Given the description of an element on the screen output the (x, y) to click on. 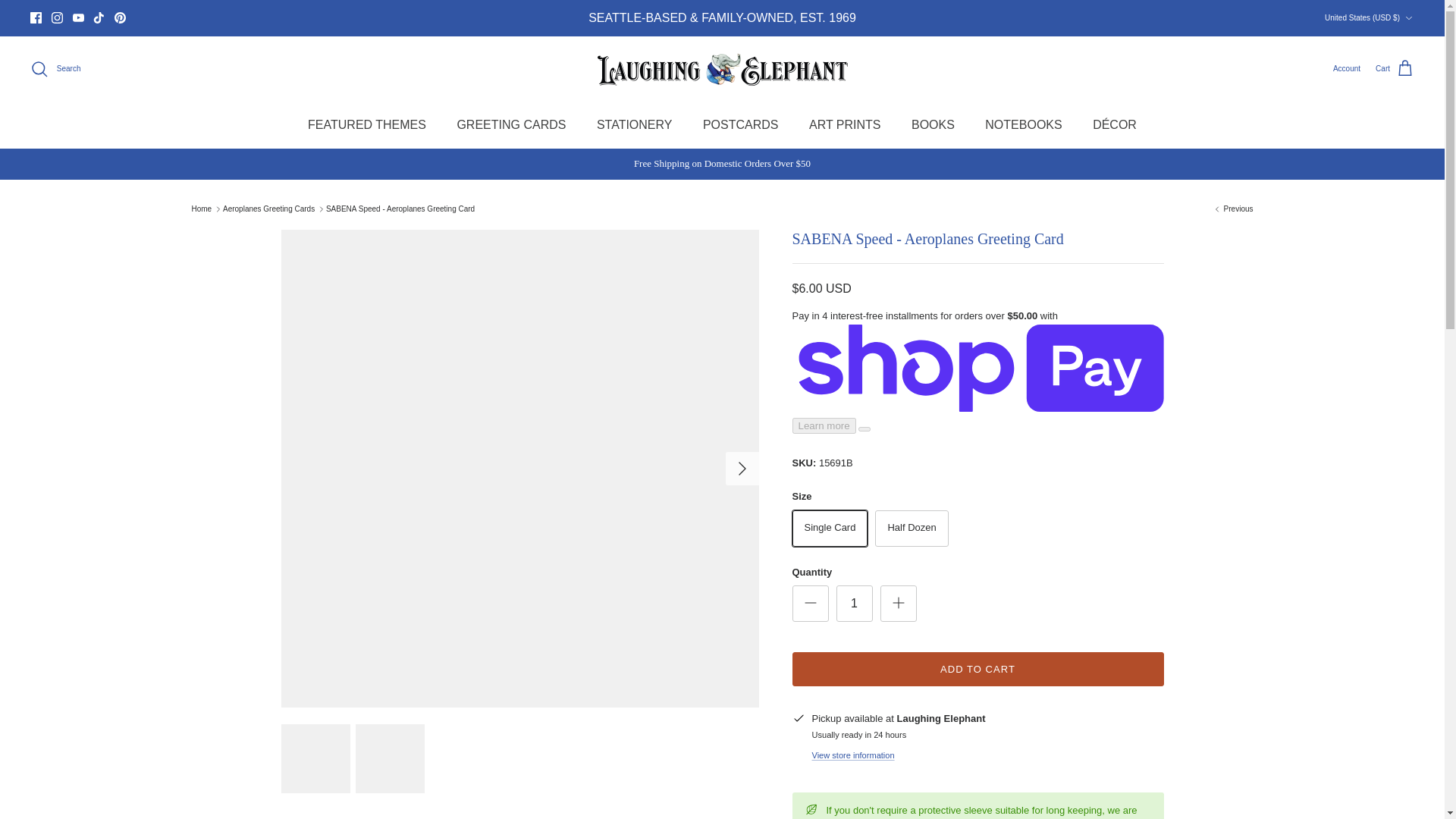
Youtube (78, 17)
Facebook (36, 17)
Facebook (36, 17)
Two Italian Planes - Aeroplanes Greeting Card (1232, 208)
1 (853, 603)
Down (1408, 18)
Plus (897, 602)
Laughing Elephant (721, 68)
Youtube (78, 17)
Instagram (56, 17)
